Given the description of an element on the screen output the (x, y) to click on. 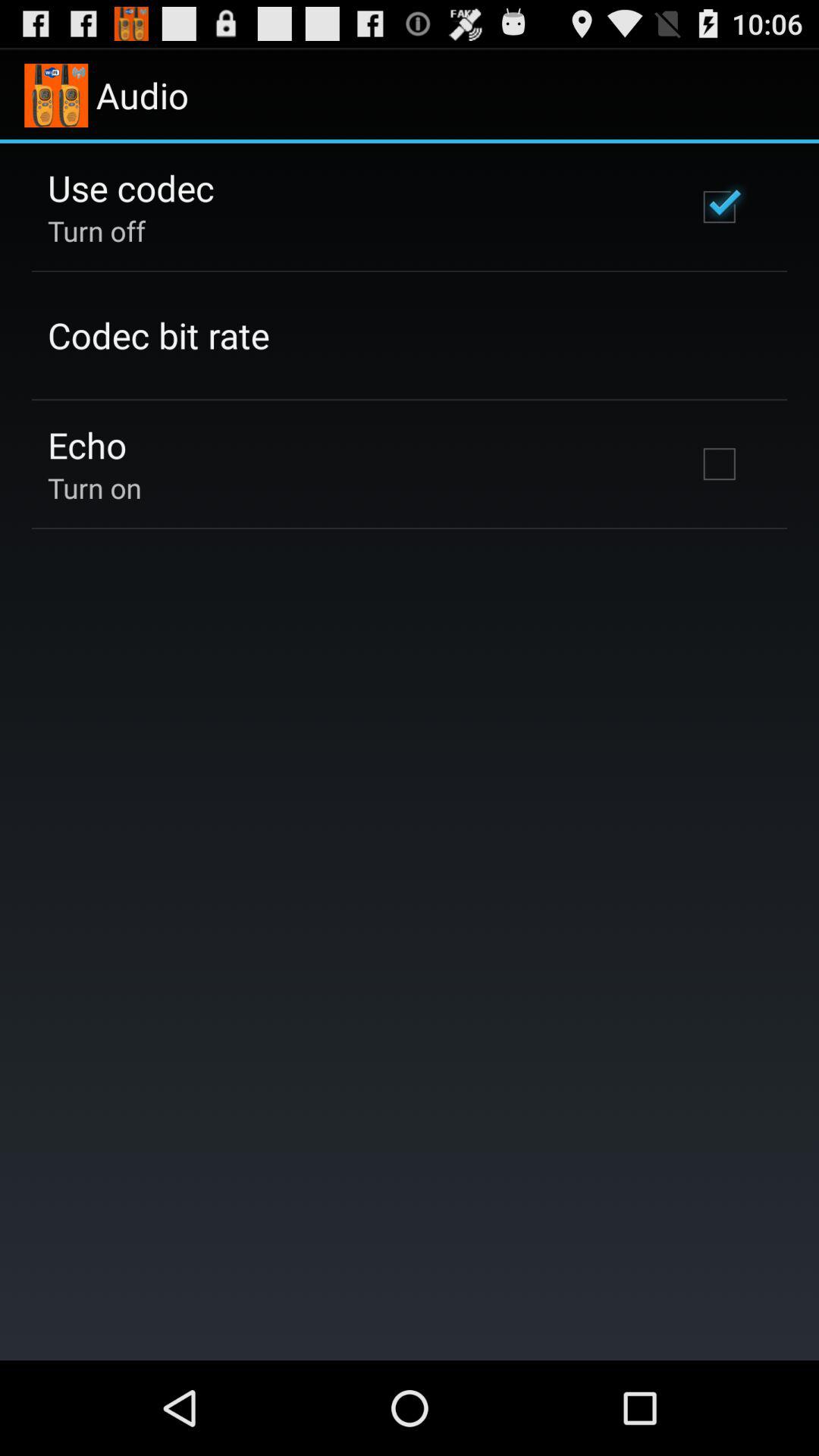
tap use codec item (130, 187)
